Given the description of an element on the screen output the (x, y) to click on. 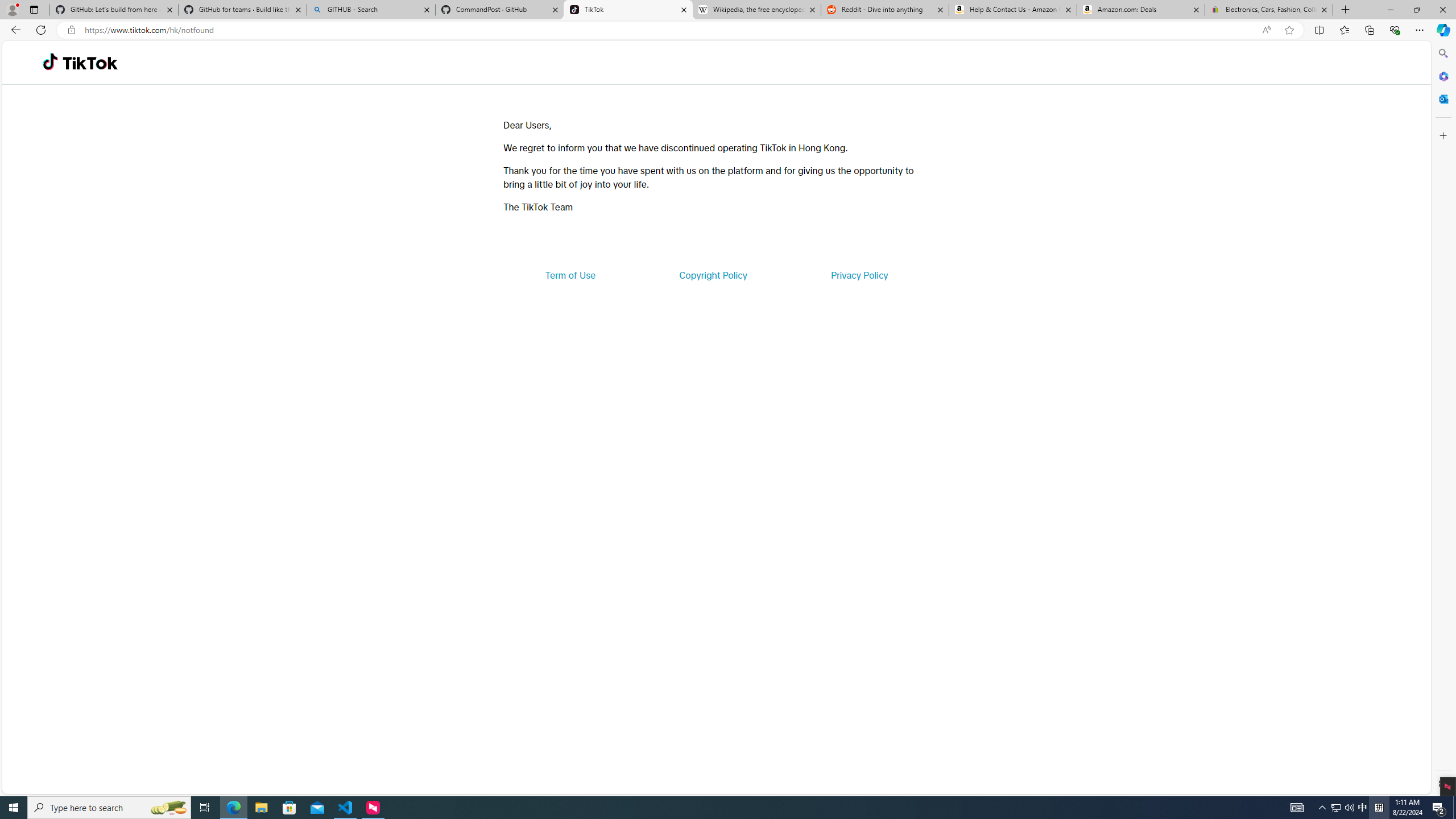
GITHUB - Search (370, 9)
TikTok (89, 62)
Amazon.com: Deals (1140, 9)
Privacy Policy (858, 274)
Wikipedia, the free encyclopedia (756, 9)
